Given the description of an element on the screen output the (x, y) to click on. 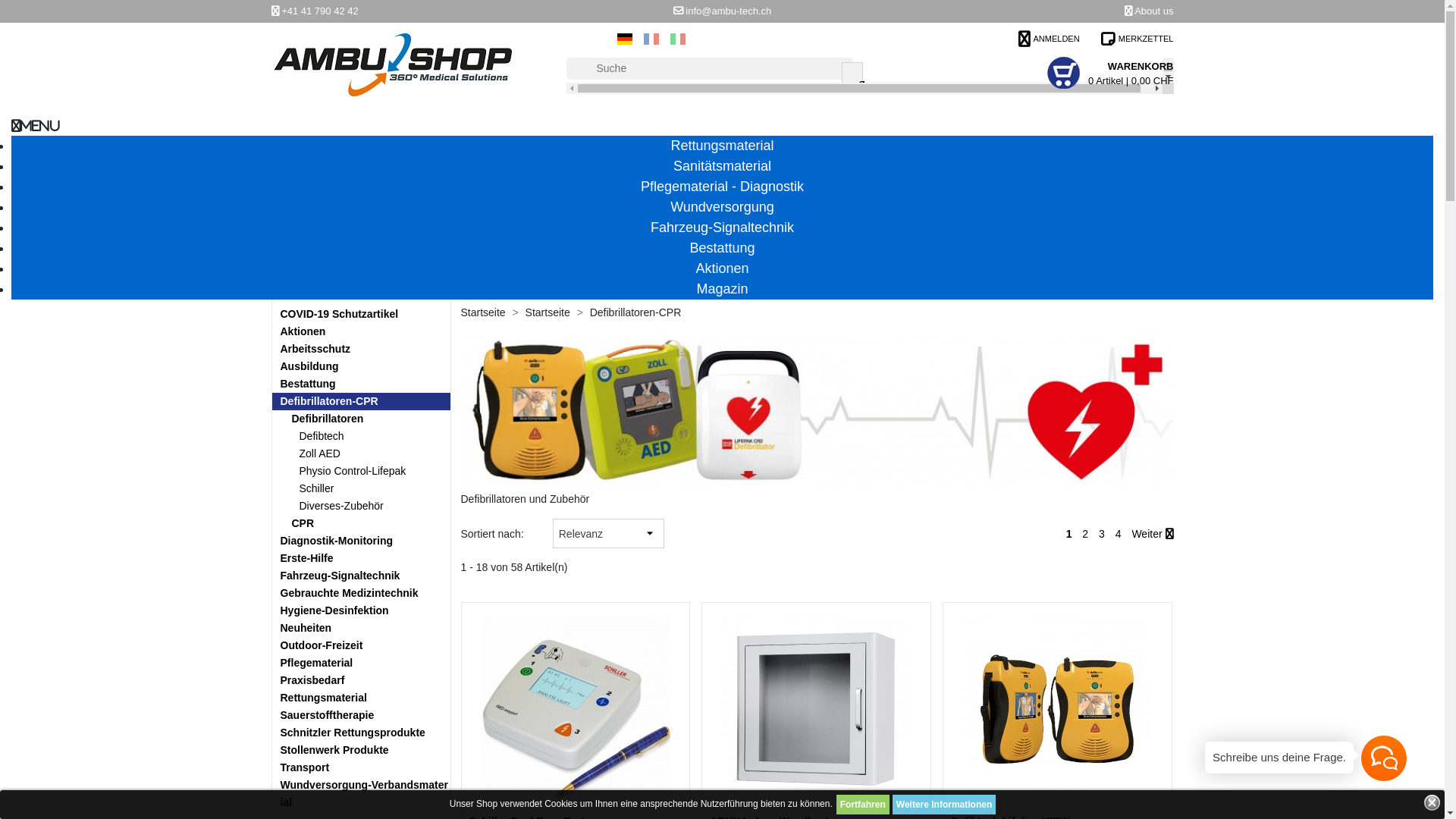
Stollenwerk Produkte Element type: text (360, 750)
Schiller Element type: text (360, 487)
Startseite Element type: text (484, 312)
Aktionen Element type: text (360, 331)
Defibtech Element type: text (360, 436)
Diagnostik-Monitoring Element type: text (360, 540)
Fahrzeug-Signaltechnik Element type: text (721, 227)
Pflegematerial - Diagnostik Element type: text (721, 186)
Ambu Shop  Element type: hover (392, 59)
Praxisbedarf Element type: text (360, 680)
Arbeitsschutz Element type: text (360, 348)
Rettungsmaterial Element type: text (360, 697)
Magazin Element type: text (721, 287)
Wundversorgung-Verbandsmaterial Element type: text (360, 793)
Fortfahren Element type: text (862, 804)
MERKZETTEL Element type: text (1137, 37)
Aktionen Element type: text (721, 268)
MENU Element type: text (35, 125)
About us Element type: text (1153, 10)
Schnitzler Rettungsprodukte Element type: text (360, 731)
ANMELDEN Element type: text (1050, 37)
WARENKORB
0 Artikel | 0,00 CHF Element type: text (1130, 71)
3 Element type: text (1101, 533)
Transport Element type: text (360, 766)
Defibrillatoren-CPR Element type: text (635, 312)
Erste-Hilfe Element type: text (360, 557)
Fahrzeug-Signaltechnik Element type: text (360, 575)
Physio Control-Lifepak Element type: text (360, 471)
Zoll AED Element type: text (360, 452)
1 Element type: text (1069, 533)
Defibrillatoren Element type: text (360, 417)
Weitere Informationen Element type: text (943, 804)
Outdoor-Freizeit Element type: text (360, 645)
COVID-19 Schutzartikel Element type: text (360, 313)
CPR Element type: text (360, 522)
Pflegematerial Element type: text (360, 662)
Weiter Element type: text (1152, 533)
Sauerstofftherapie Element type: text (360, 715)
Hallo! Element type: text (1383, 758)
Rettungsmaterial Element type: text (721, 145)
4 Element type: text (1118, 533)
Bestattung Element type: text (721, 246)
+41 41 790 42 42 Element type: text (319, 10)
Hygiene-Desinfektion Element type: text (360, 610)
Neuheiten Element type: text (360, 627)
Startseite Element type: text (549, 312)
Wundversorgung Element type: text (722, 205)
Defibrillatoren-CPR Element type: text (360, 401)
Gebrauchte Medizintechnik Element type: text (360, 592)
Ausbildung Element type: text (360, 366)
2 Element type: text (1085, 533)
Bestattung Element type: text (360, 383)
info@ambu-tech.ch Element type: text (728, 10)
